Given the description of an element on the screen output the (x, y) to click on. 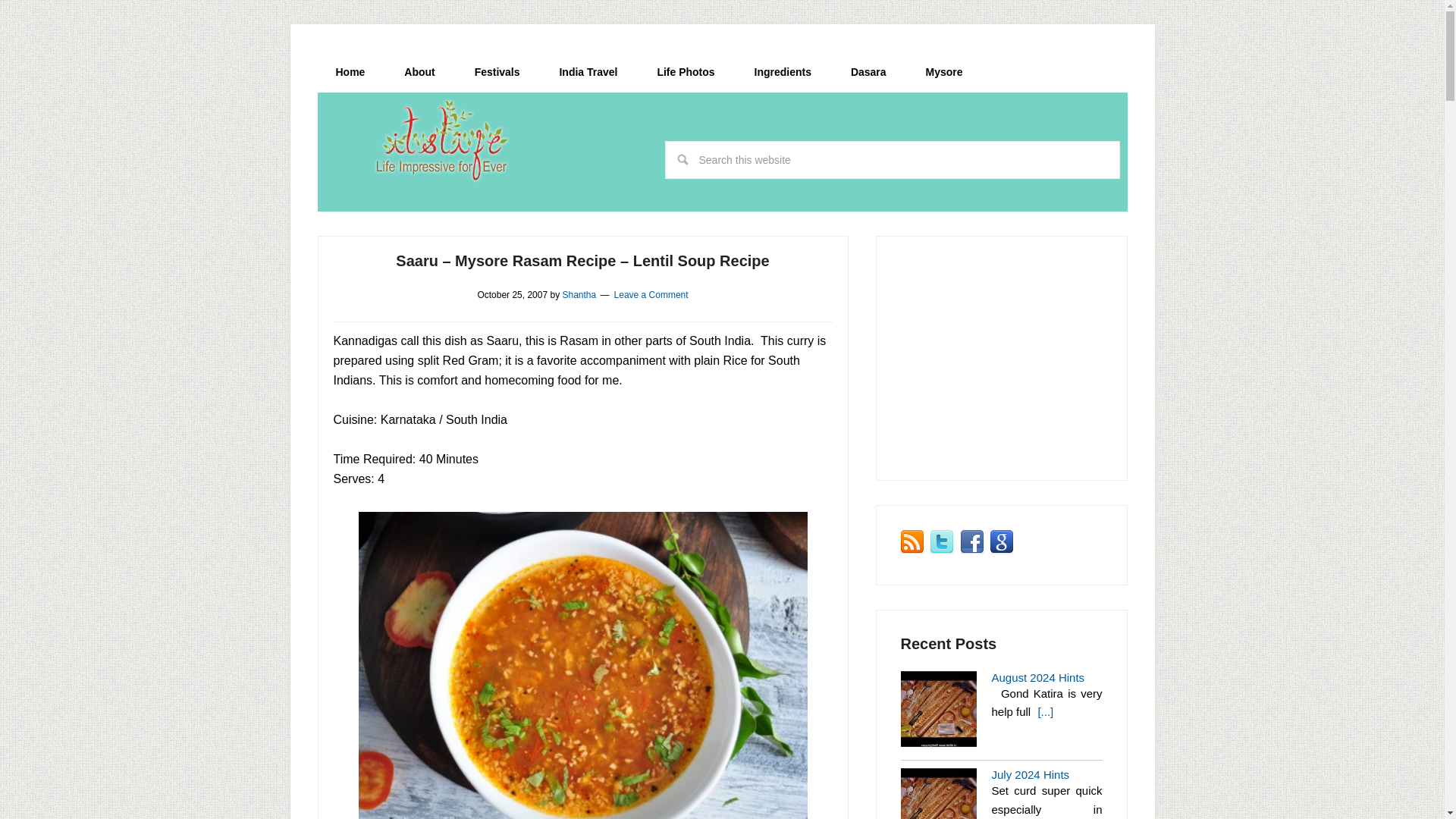
Life Photos (685, 71)
Festivals (497, 71)
itslife.in (445, 141)
Home (349, 71)
Ingredients (782, 71)
Dasara (868, 71)
Shantha (578, 294)
About (418, 71)
Mysore (943, 71)
Leave a Comment (651, 294)
India Travel (587, 71)
